Given the description of an element on the screen output the (x, y) to click on. 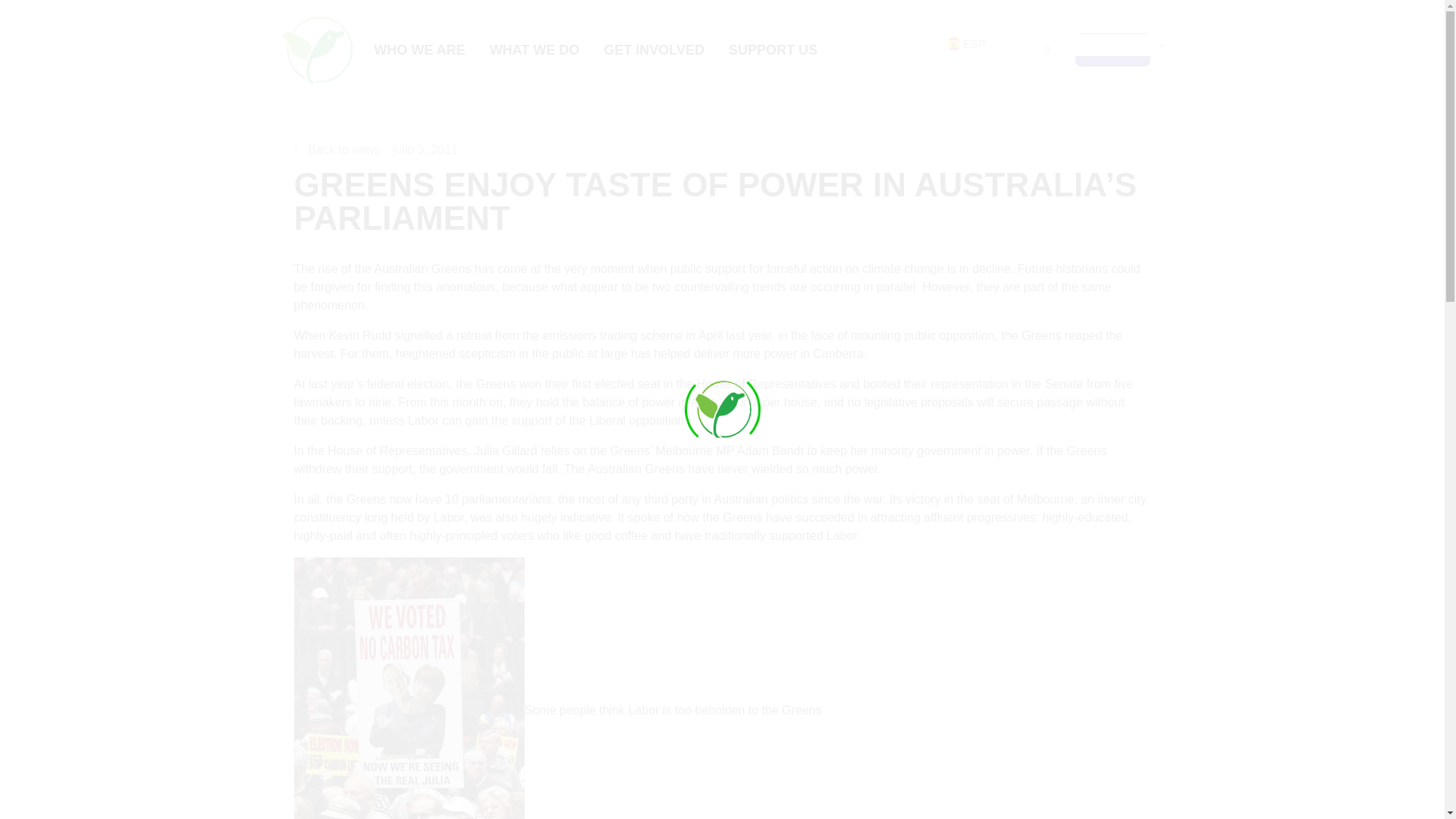
WHAT WE DO (534, 49)
GET INVOLVED (653, 49)
SUPPORT US (772, 49)
Spanish (1056, 44)
Spanish (953, 43)
WHO WE ARE (419, 49)
